Given the description of an element on the screen output the (x, y) to click on. 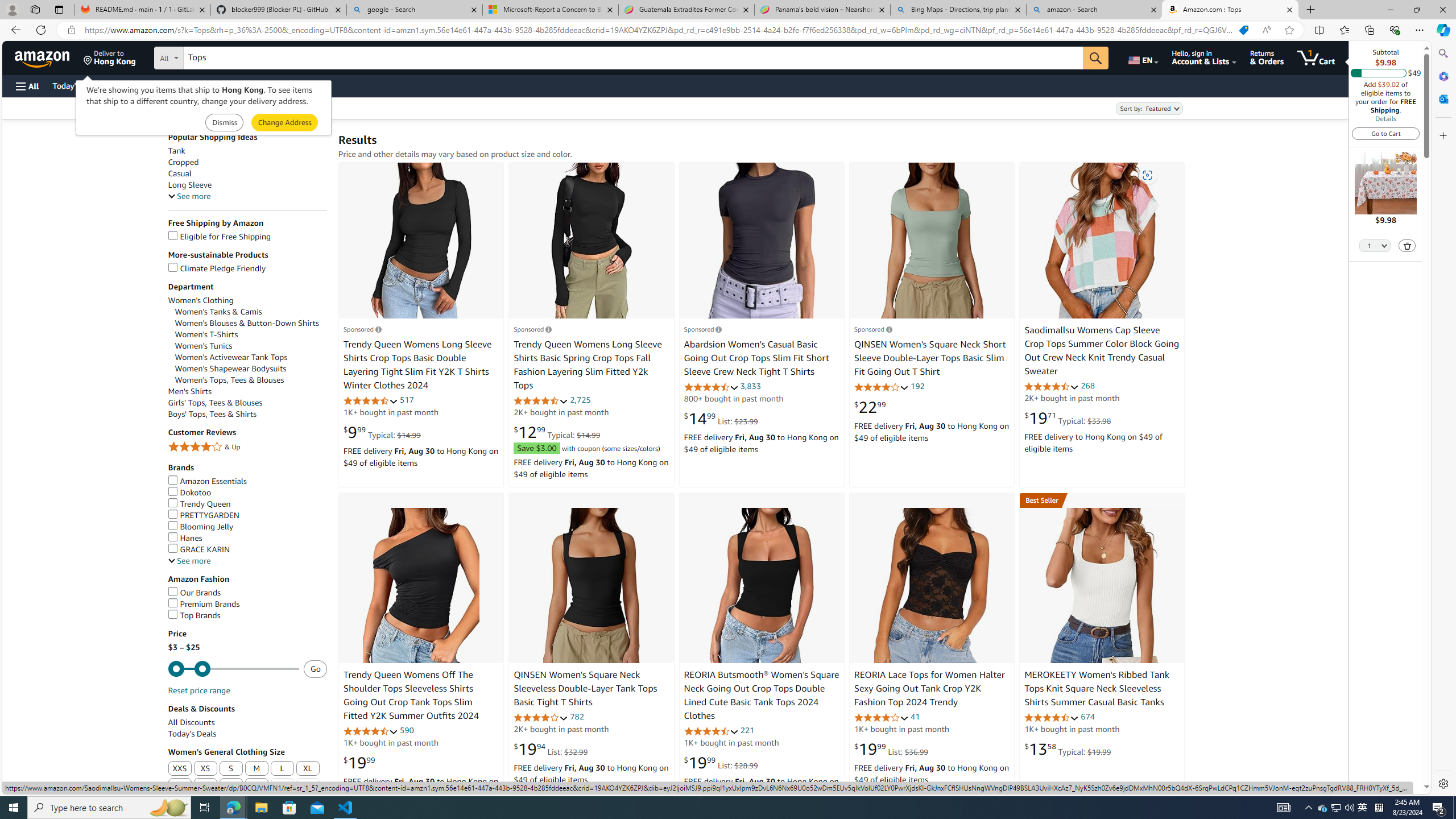
4.4 out of 5 stars (1051, 386)
Submit (284, 122)
Women's Activewear Tank Tops (250, 356)
